Given the description of an element on the screen output the (x, y) to click on. 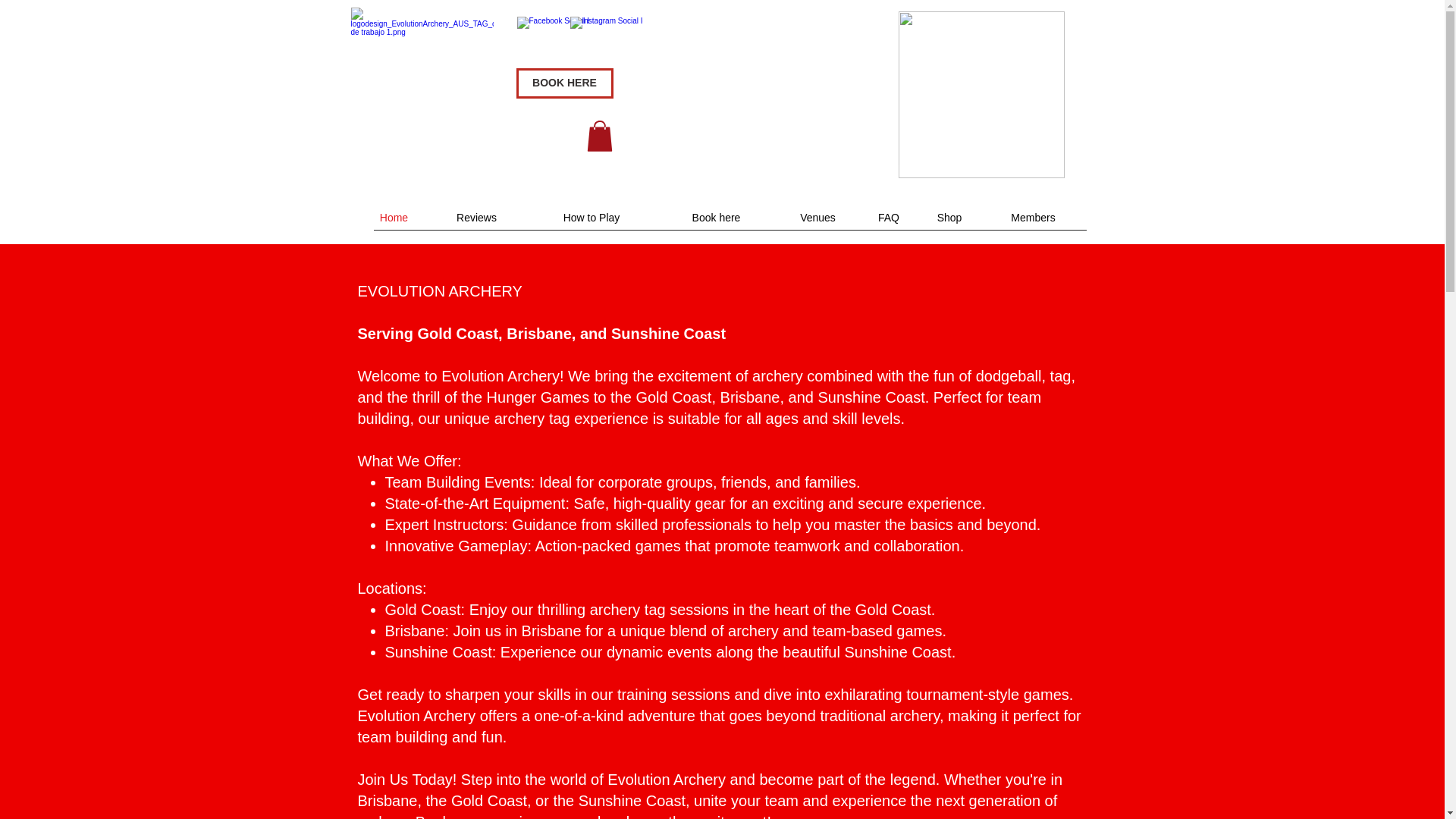
Reviews (476, 217)
Members (1032, 217)
Book here (716, 217)
Venues (817, 217)
Shop (948, 217)
How to Play (591, 217)
BOOK HERE (563, 82)
Home (393, 217)
FAQ (888, 217)
